Given the description of an element on the screen output the (x, y) to click on. 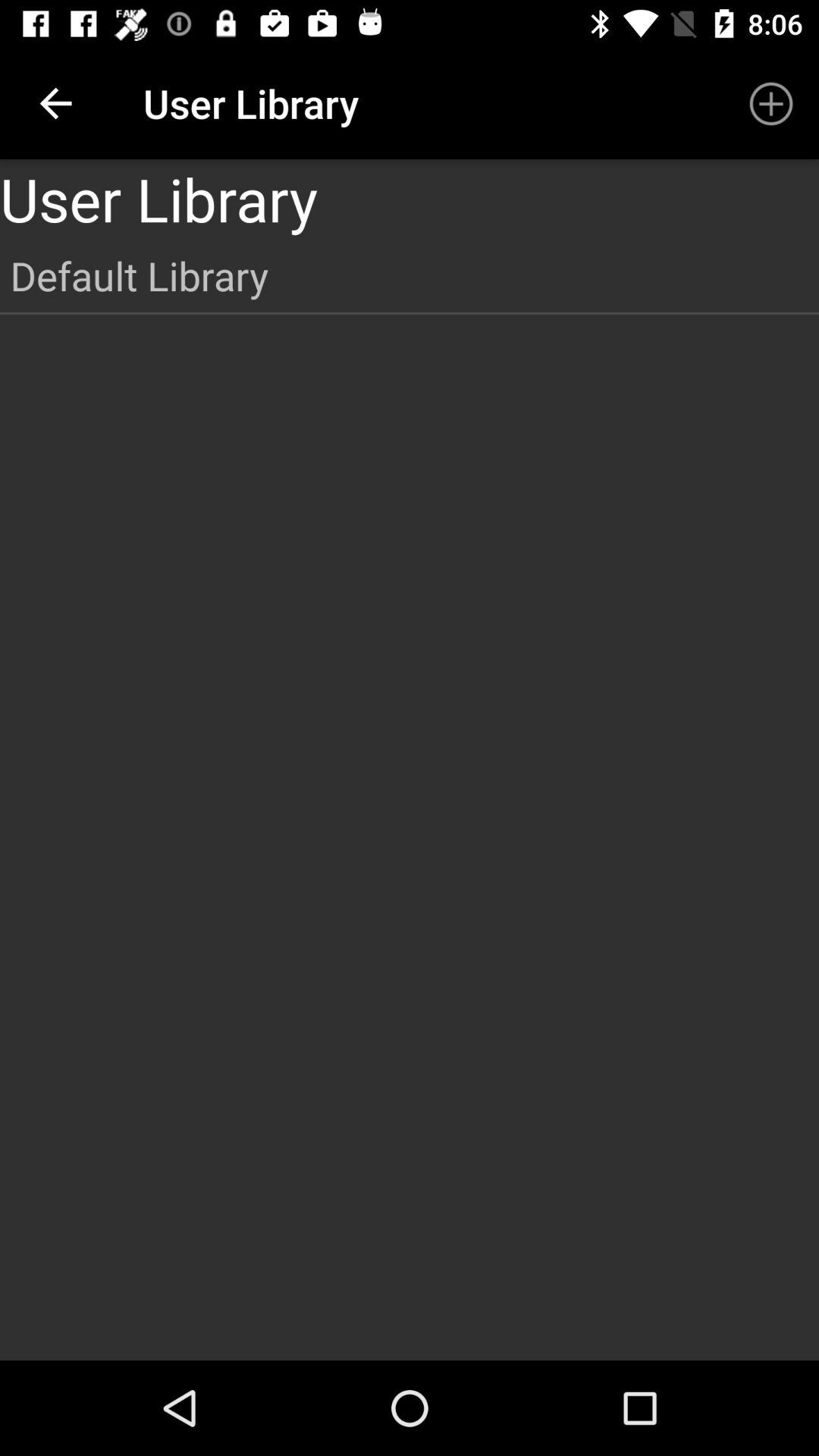
open item below the user library icon (409, 275)
